Given the description of an element on the screen output the (x, y) to click on. 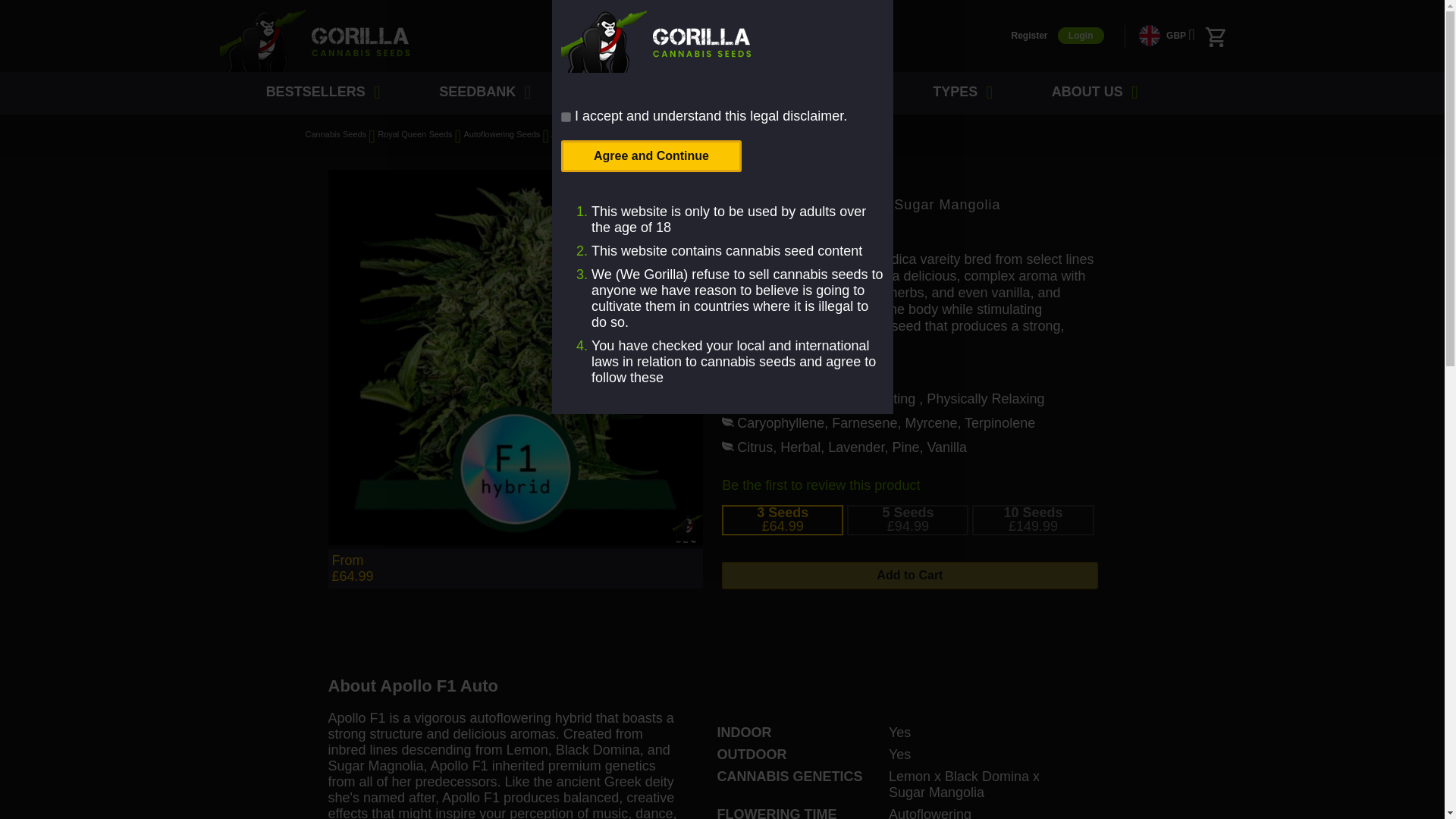
BESTSELLERS (318, 93)
7 (1030, 520)
6 (905, 520)
5 (781, 520)
Login (1080, 35)
SEEDBANK (480, 93)
Gorilla Cannabis Seeds (314, 40)
Agree and Continue (650, 155)
1 (565, 117)
My Cart (1215, 36)
Best Selling Cannabis Seeds (318, 93)
Register (1028, 35)
Seedbank (480, 93)
